Given the description of an element on the screen output the (x, y) to click on. 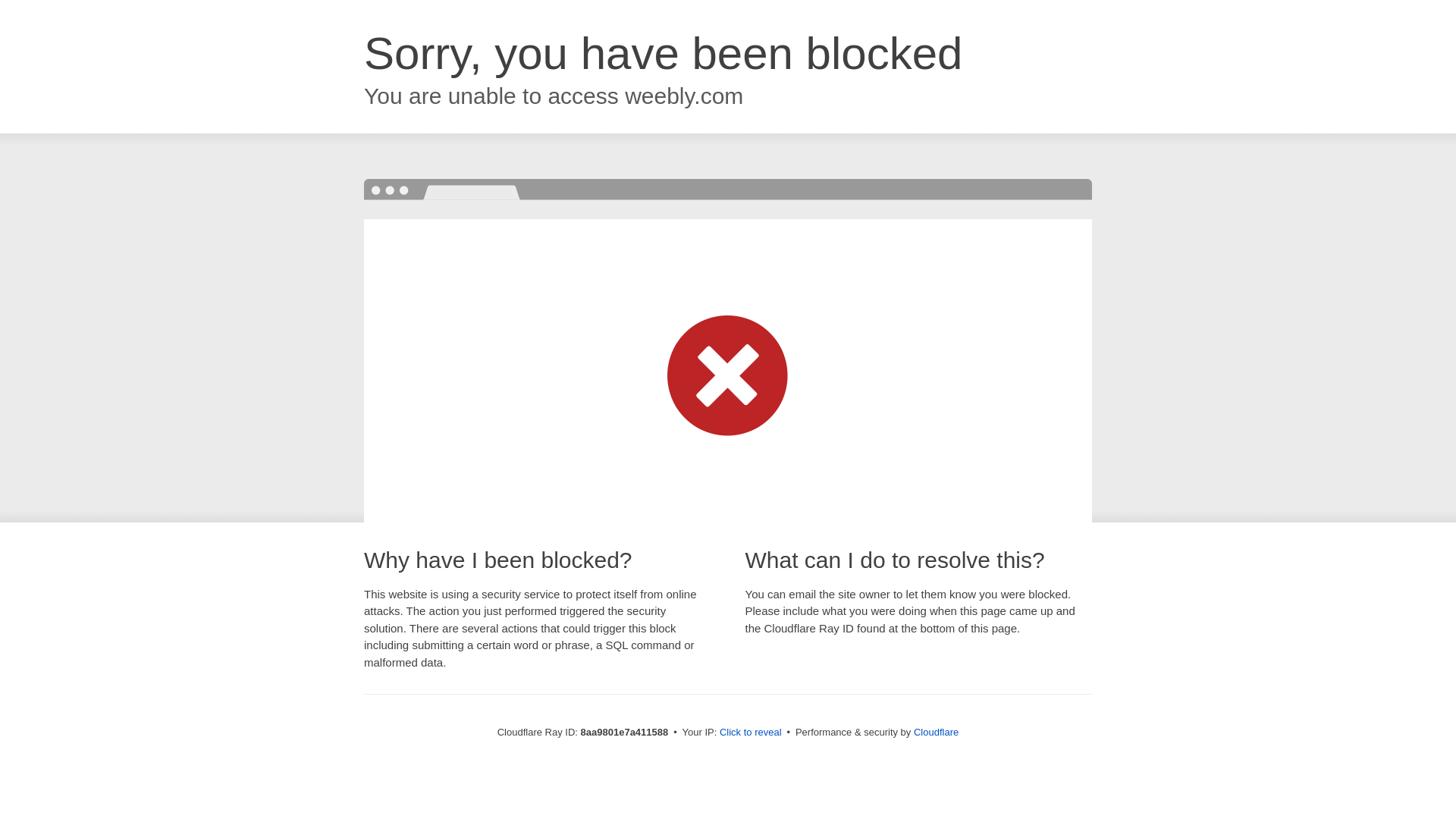
Cloudflare (936, 731)
Click to reveal (750, 732)
